Given the description of an element on the screen output the (x, y) to click on. 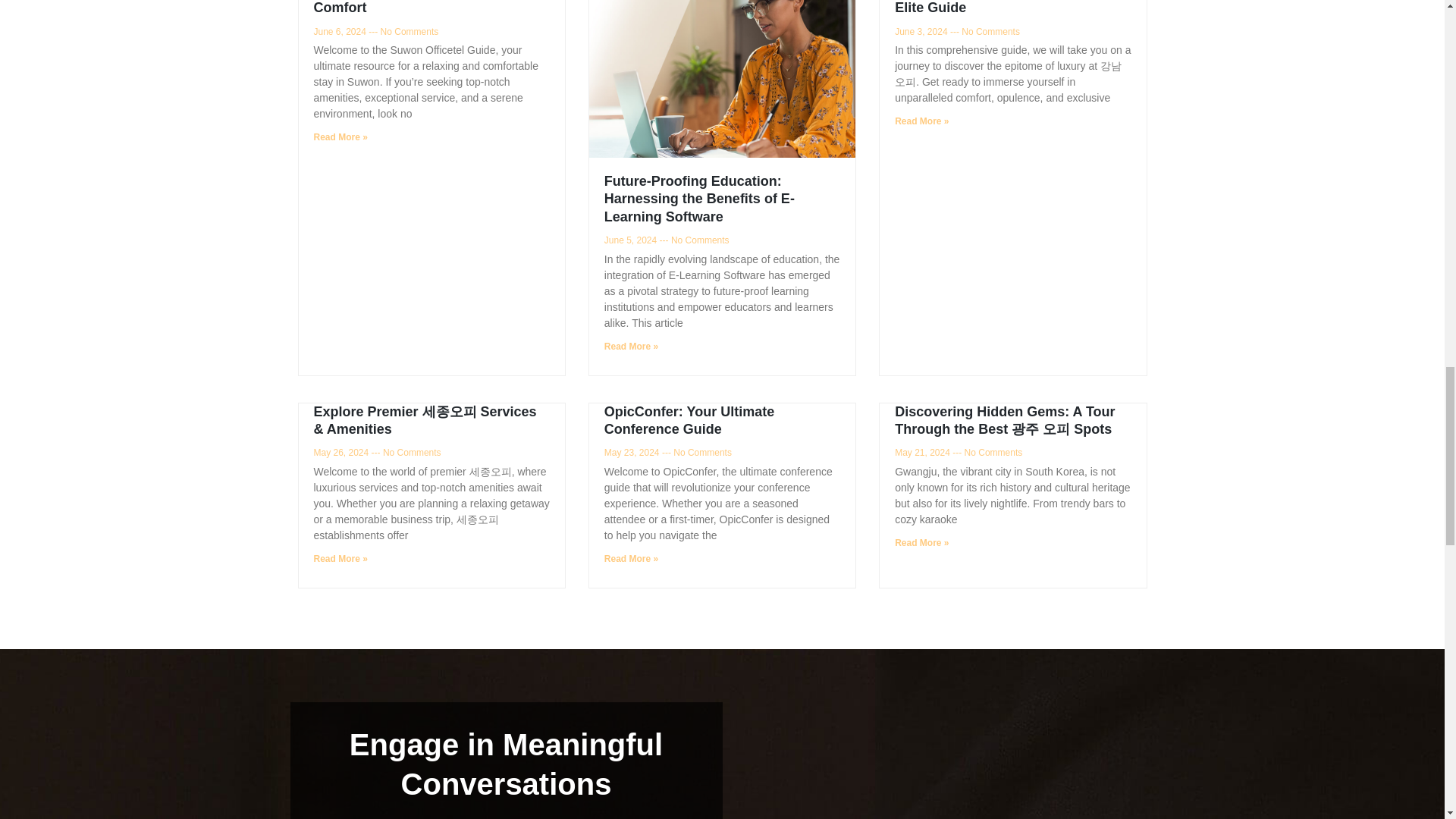
OpicConfer: Your Ultimate Conference Guide (689, 420)
Suwon Officetel Guide: Unwind in Comfort (423, 7)
